Given the description of an element on the screen output the (x, y) to click on. 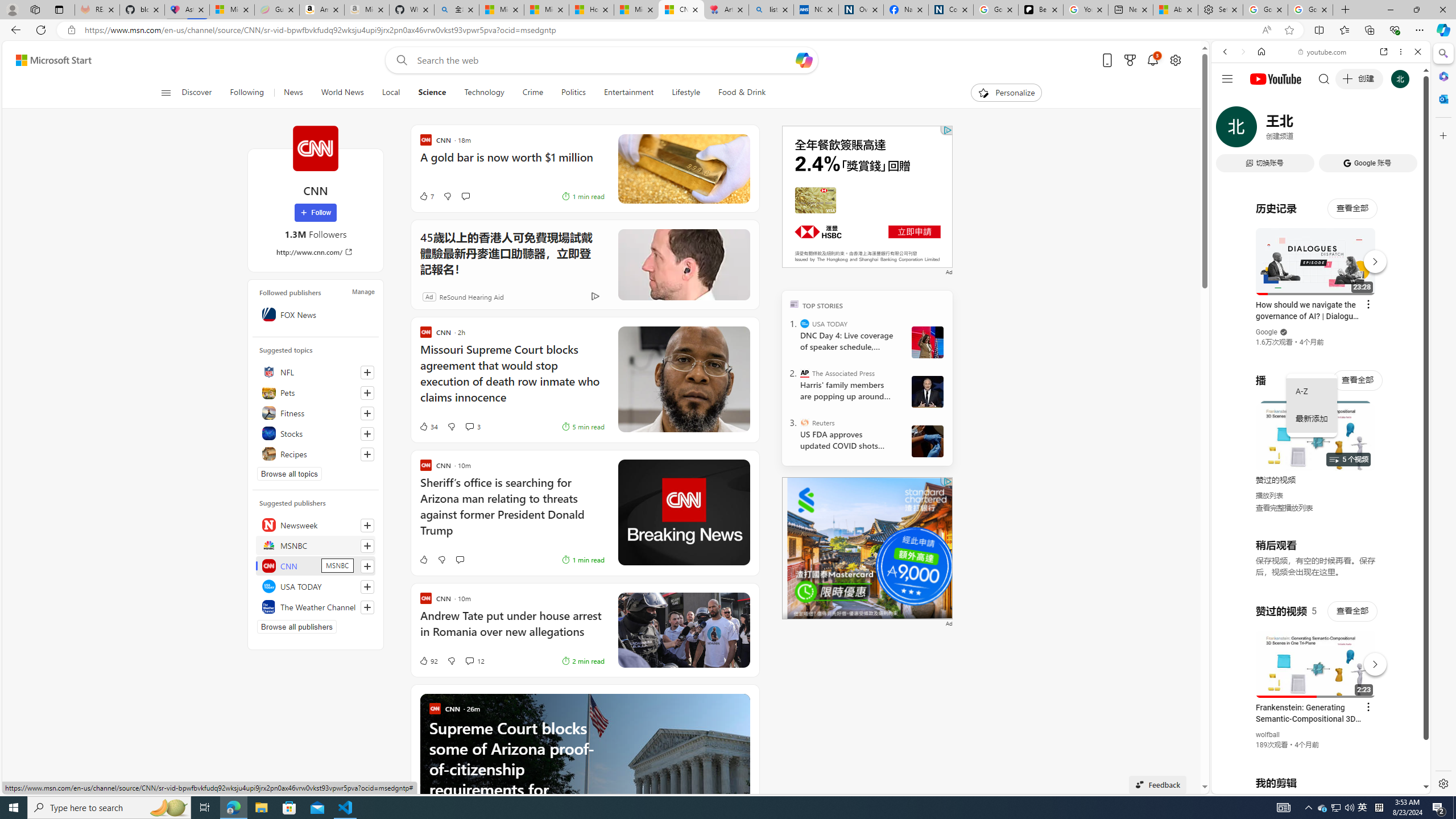
NCL Adult Asthma Inhaler Choice Guideline (816, 9)
Enter your search term (603, 59)
The Associated Press (804, 372)
Arthritis: Ask Health Professionals (726, 9)
Open navigation menu (164, 92)
USA TODAY (315, 586)
Class: dict_pnIcon rms_img (1312, 784)
